Given the description of an element on the screen output the (x, y) to click on. 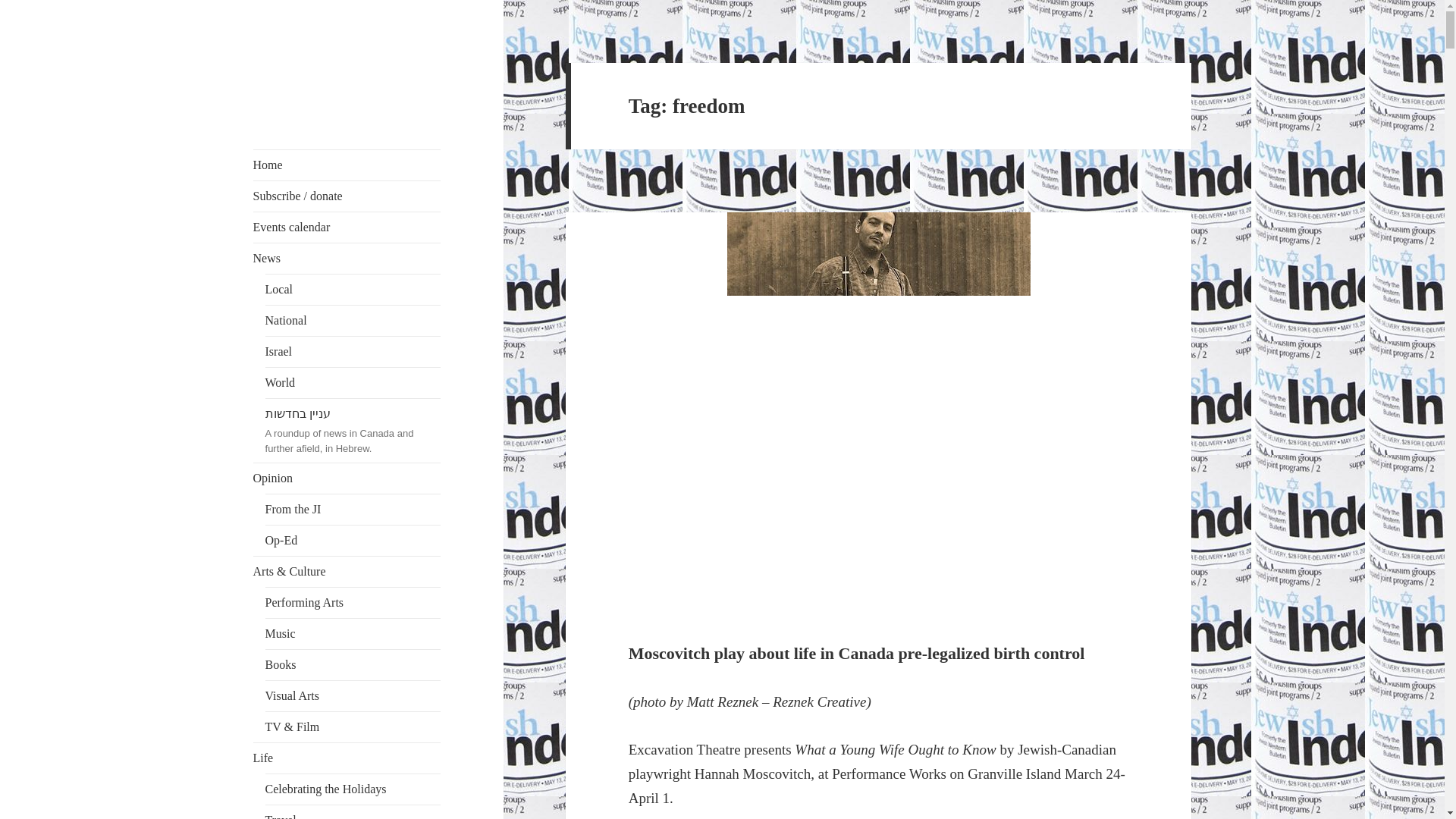
Celebrating the Holidays (352, 788)
Opinion (347, 478)
Israel (352, 351)
Events calendar (347, 227)
Books (352, 665)
Home (347, 164)
Op-Ed (352, 540)
News (347, 258)
Travel (352, 812)
Visual Arts (352, 695)
World (352, 382)
From the JI (352, 509)
National (352, 320)
Life (347, 757)
Performing Arts (352, 603)
